Given the description of an element on the screen output the (x, y) to click on. 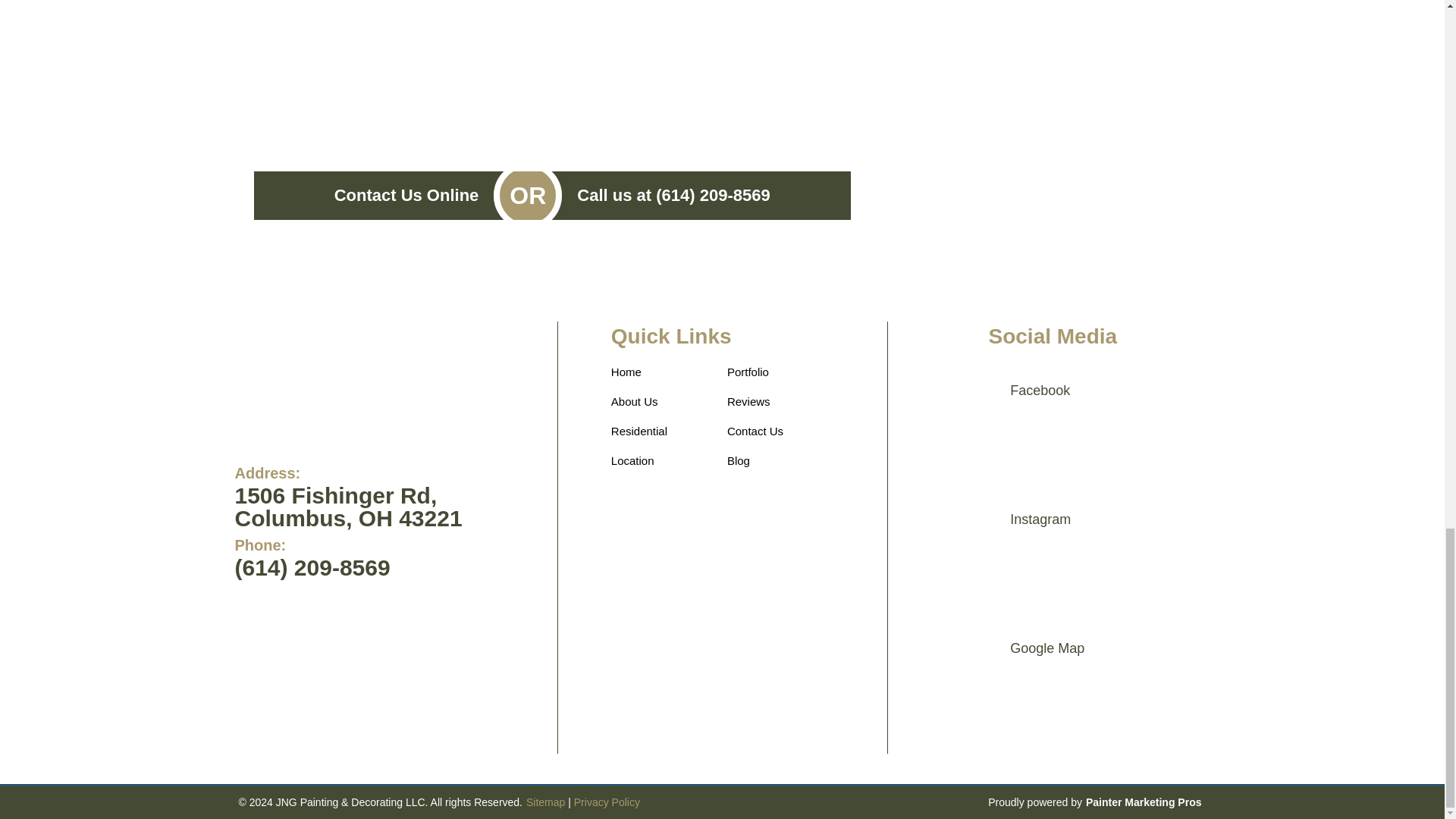
Facebook Icon (959, 431)
Instagram Icon (959, 560)
google map icon (959, 689)
